Given the description of an element on the screen output the (x, y) to click on. 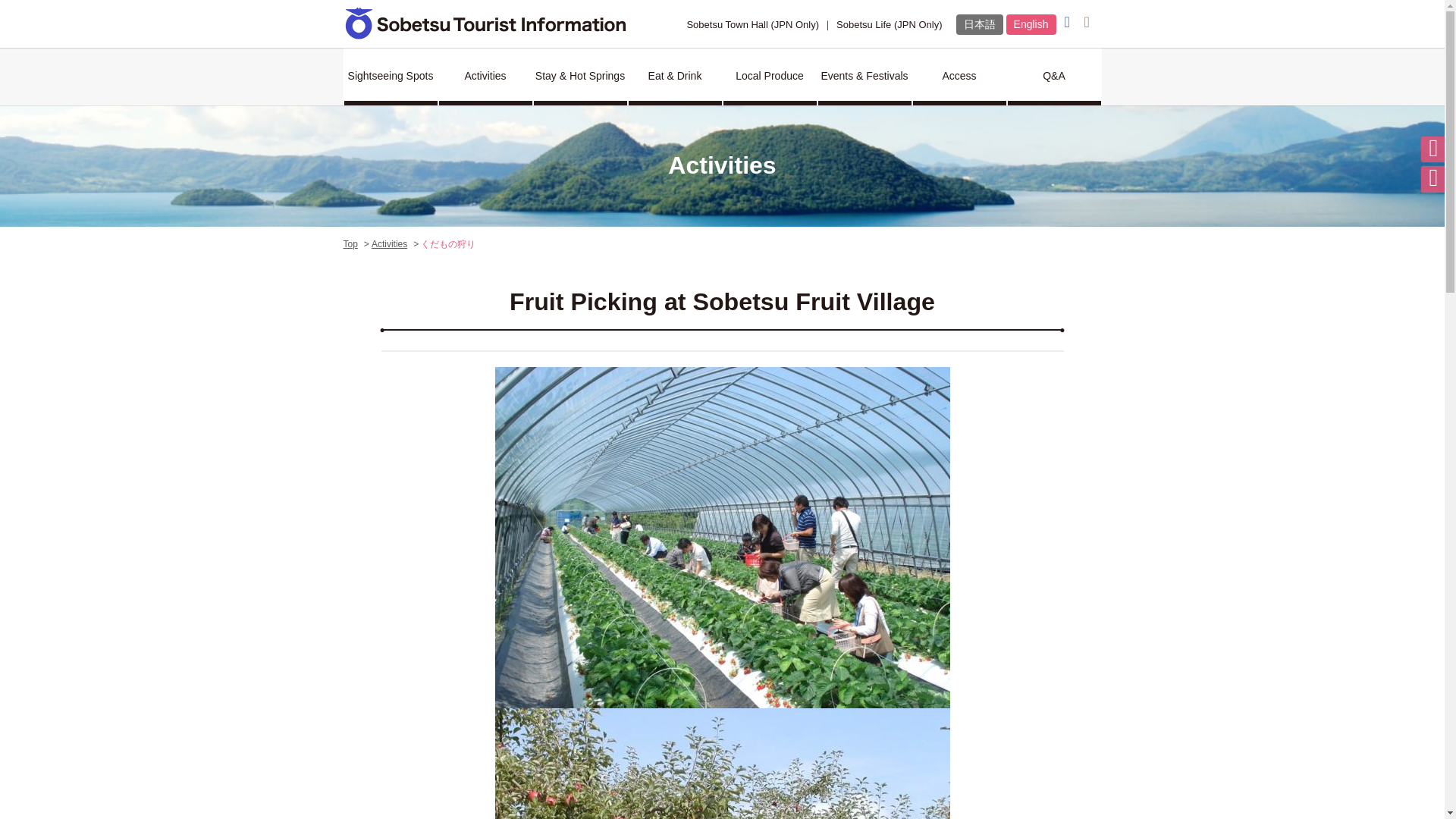
Activities (389, 244)
Top (349, 244)
Sightseeing Spots (390, 76)
Activities (484, 76)
Access (959, 76)
English (1031, 24)
Local Produce (769, 76)
